Given the description of an element on the screen output the (x, y) to click on. 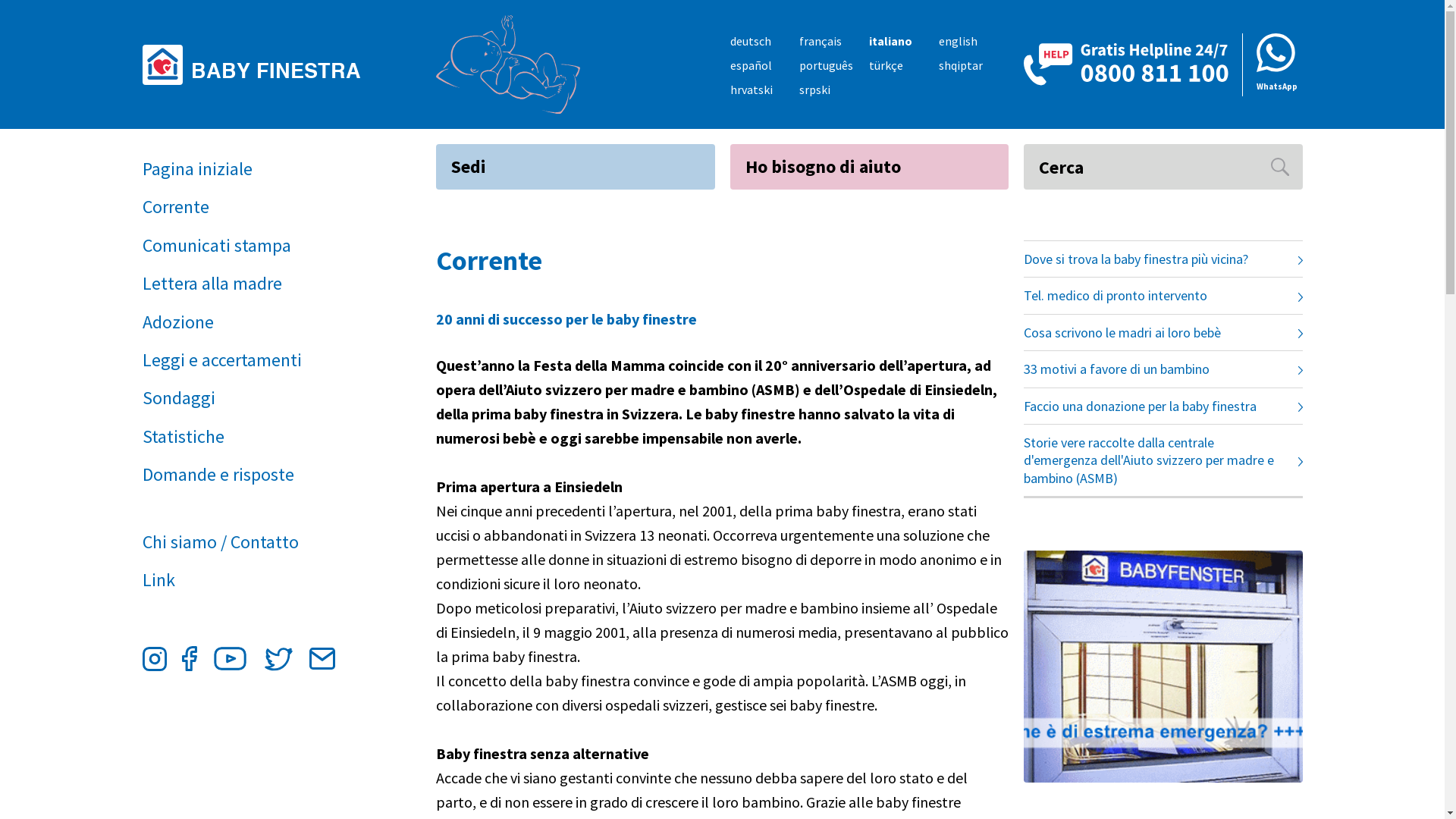
italiano Element type: text (890, 40)
Lettera alla madre Element type: text (253, 283)
Comunicati stampa Element type: text (253, 245)
deutsch Element type: text (749, 40)
Chi siamo / Contatto Element type: text (253, 542)
Ho bisogno di aiuto Element type: text (868, 166)
hrvatski Element type: text (750, 89)
Tel. medico di pronto intervento Element type: text (1162, 295)
Adozione Element type: text (253, 322)
Domande e risposte Element type: text (253, 474)
Leggi e accertamenti Element type: text (253, 360)
33 motivi a favore di un bambino Element type: text (1162, 368)
shqiptar Element type: text (960, 64)
Link Element type: text (253, 580)
WhatsApp Element type: text (1272, 64)
Corrente Element type: text (253, 206)
Pagina iniziale Element type: text (253, 169)
BABY FINESTRA Element type: text (257, 63)
english Element type: text (957, 40)
Sedi Element type: text (575, 166)
Faccio una donazione per la baby finestra Element type: text (1162, 405)
Sondaggi Element type: text (253, 398)
Statistiche Element type: text (253, 436)
srpski Element type: text (814, 89)
